Given the description of an element on the screen output the (x, y) to click on. 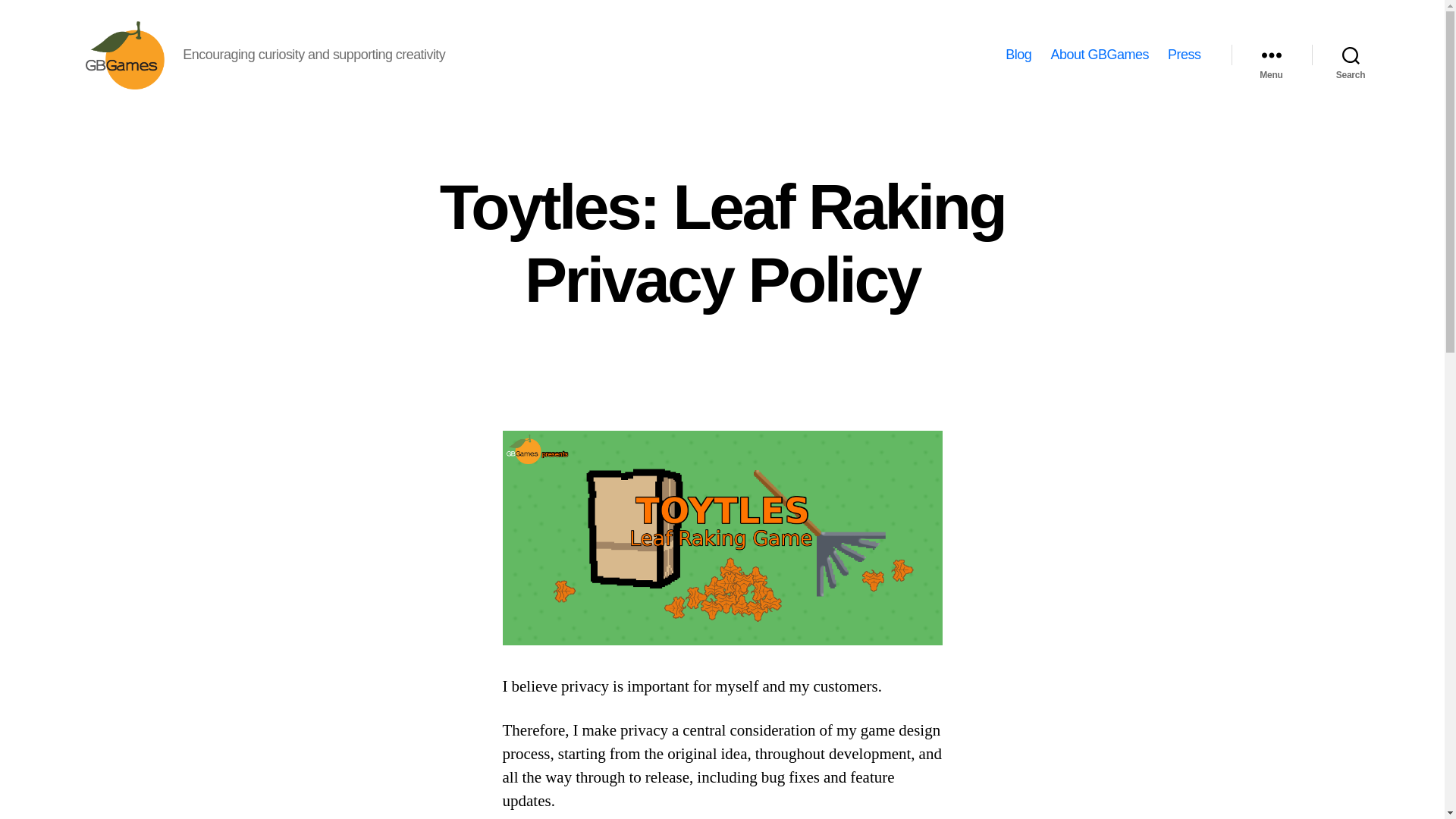
Search (1350, 55)
Menu (1271, 55)
About GBGames (1098, 54)
Blog (1018, 54)
Press (1184, 54)
